Given the description of an element on the screen output the (x, y) to click on. 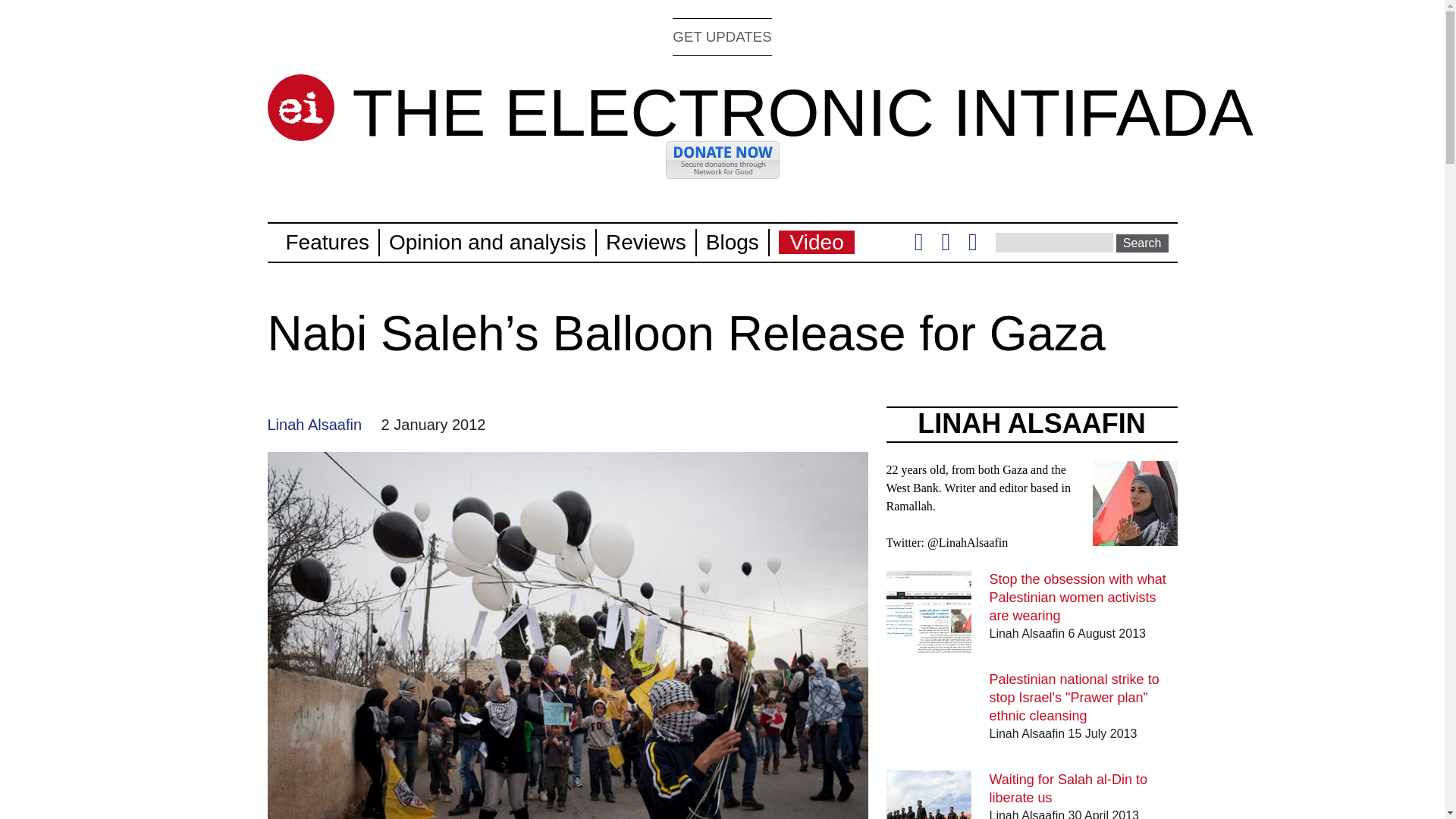
Enter the terms you wish to search for. (1054, 242)
Search (1142, 243)
Linah Alsaafin (313, 424)
THE ELECTRONIC INTIFADA (802, 112)
Linah Alsaafin's picture (1134, 535)
GET UPDATES (721, 37)
Linah Alsaafin's picture (1134, 503)
Home (299, 107)
Home (802, 112)
